Given the description of an element on the screen output the (x, y) to click on. 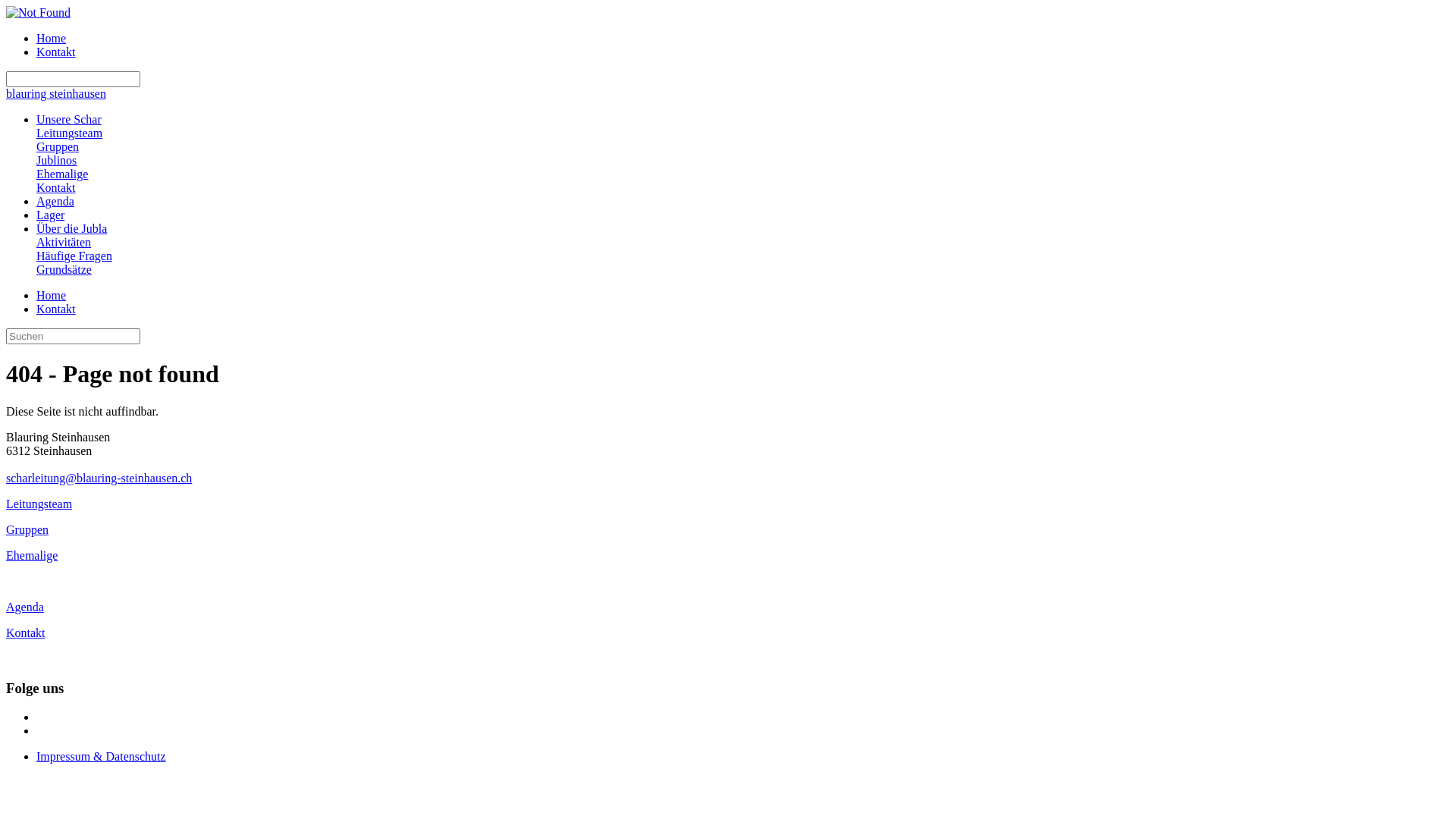
Ehemalige Element type: text (31, 555)
Kontakt Element type: text (55, 308)
Kontakt Element type: text (55, 51)
Gruppen Element type: text (27, 529)
Gruppen Element type: text (57, 146)
Kontakt Element type: text (25, 632)
Not Found Element type: hover (38, 12)
Lager Element type: text (50, 214)
Agenda Element type: text (55, 200)
Impressum & Datenschutz Element type: text (101, 755)
Leitungsteam Element type: text (39, 503)
Home Element type: text (50, 294)
Leitungsteam Element type: text (69, 132)
scharleitung@blauring-steinhausen.ch Element type: text (98, 477)
Home Element type: text (50, 37)
Blauring Steinhausen Element type: hover (38, 12)
Agenda Element type: text (24, 606)
blauring steinhausen Element type: text (56, 93)
Kontakt Element type: text (55, 187)
Ehemalige Element type: text (61, 173)
Jublinos Element type: text (56, 159)
Unsere Schar Element type: text (68, 118)
